Given the description of an element on the screen output the (x, y) to click on. 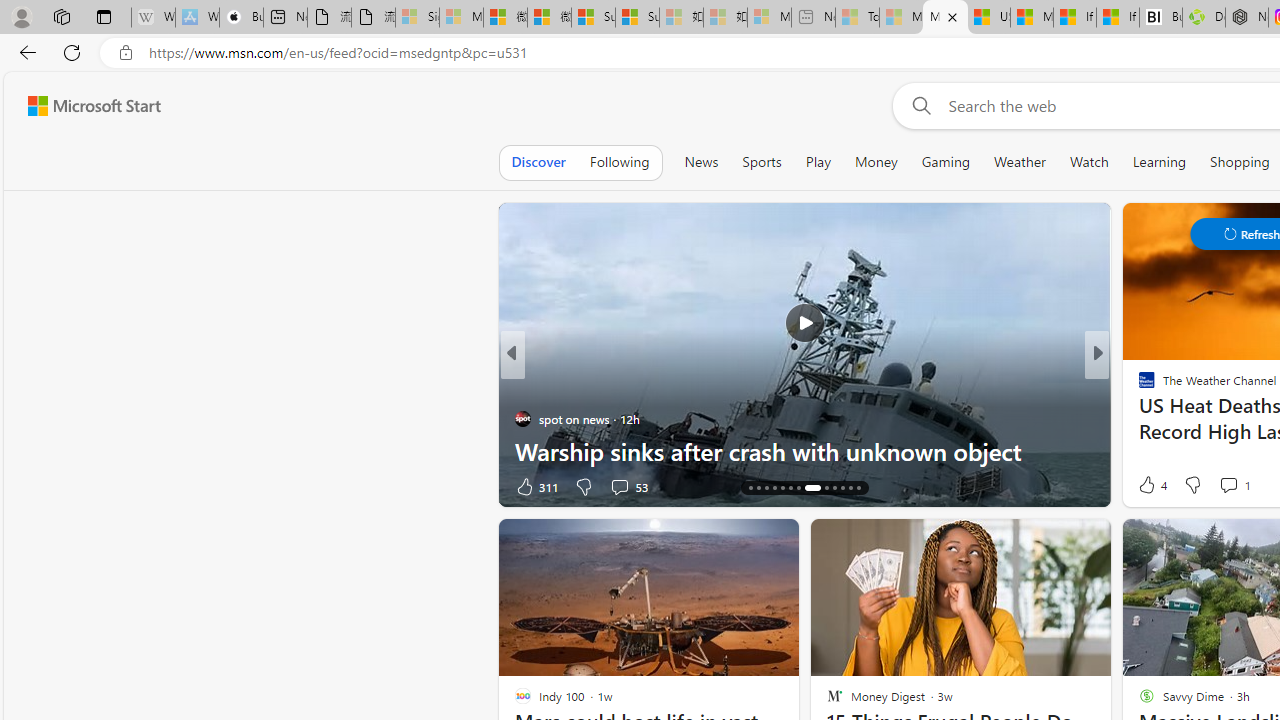
AutomationID: tab-24 (842, 487)
311 Like (535, 486)
This story is trending (449, 490)
View comments 3 Comment (1241, 486)
AutomationID: tab-16 (765, 487)
Hide this story (1050, 542)
